Given the description of an element on the screen output the (x, y) to click on. 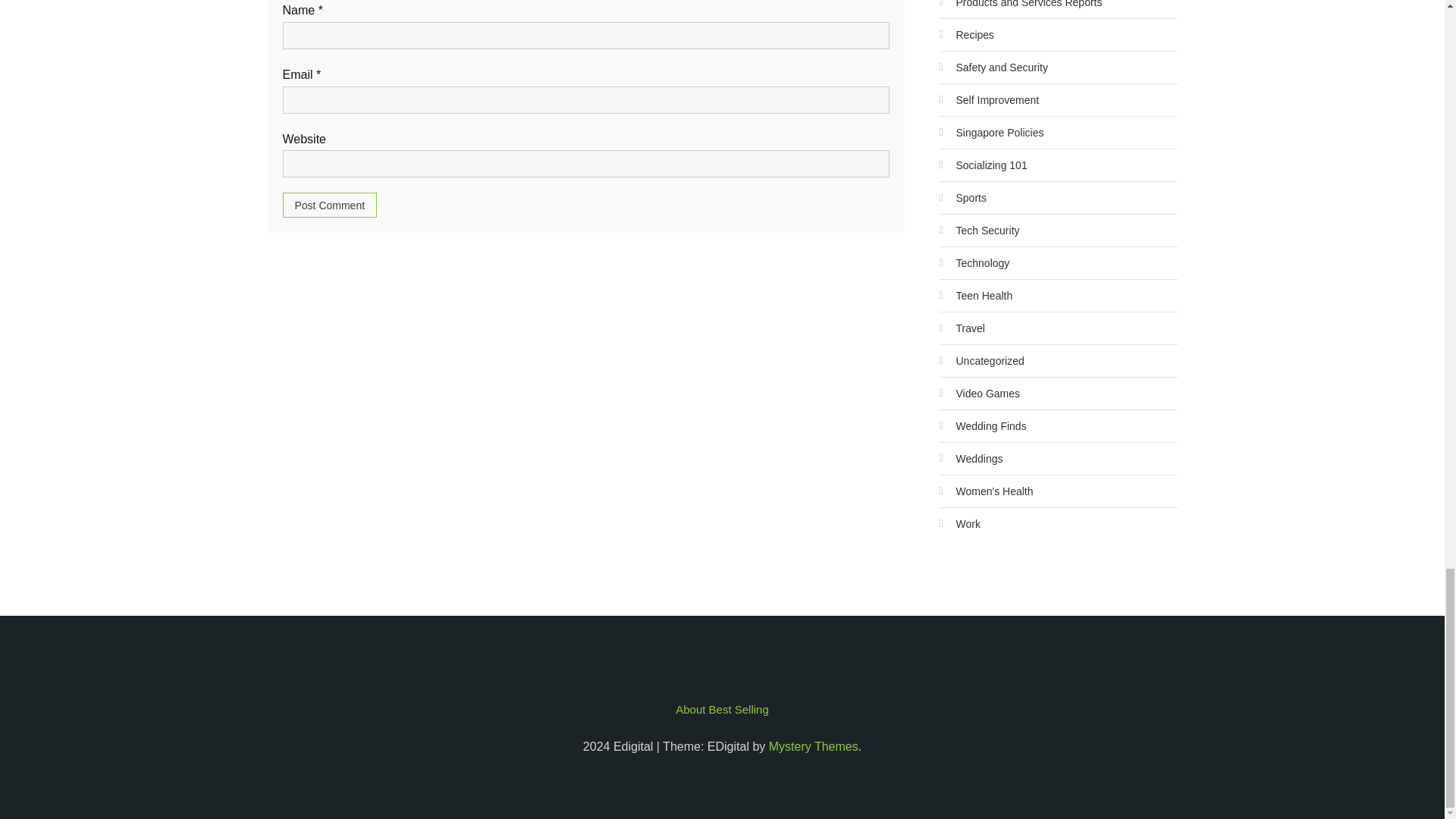
Post Comment (329, 204)
Post Comment (329, 204)
